Given the description of an element on the screen output the (x, y) to click on. 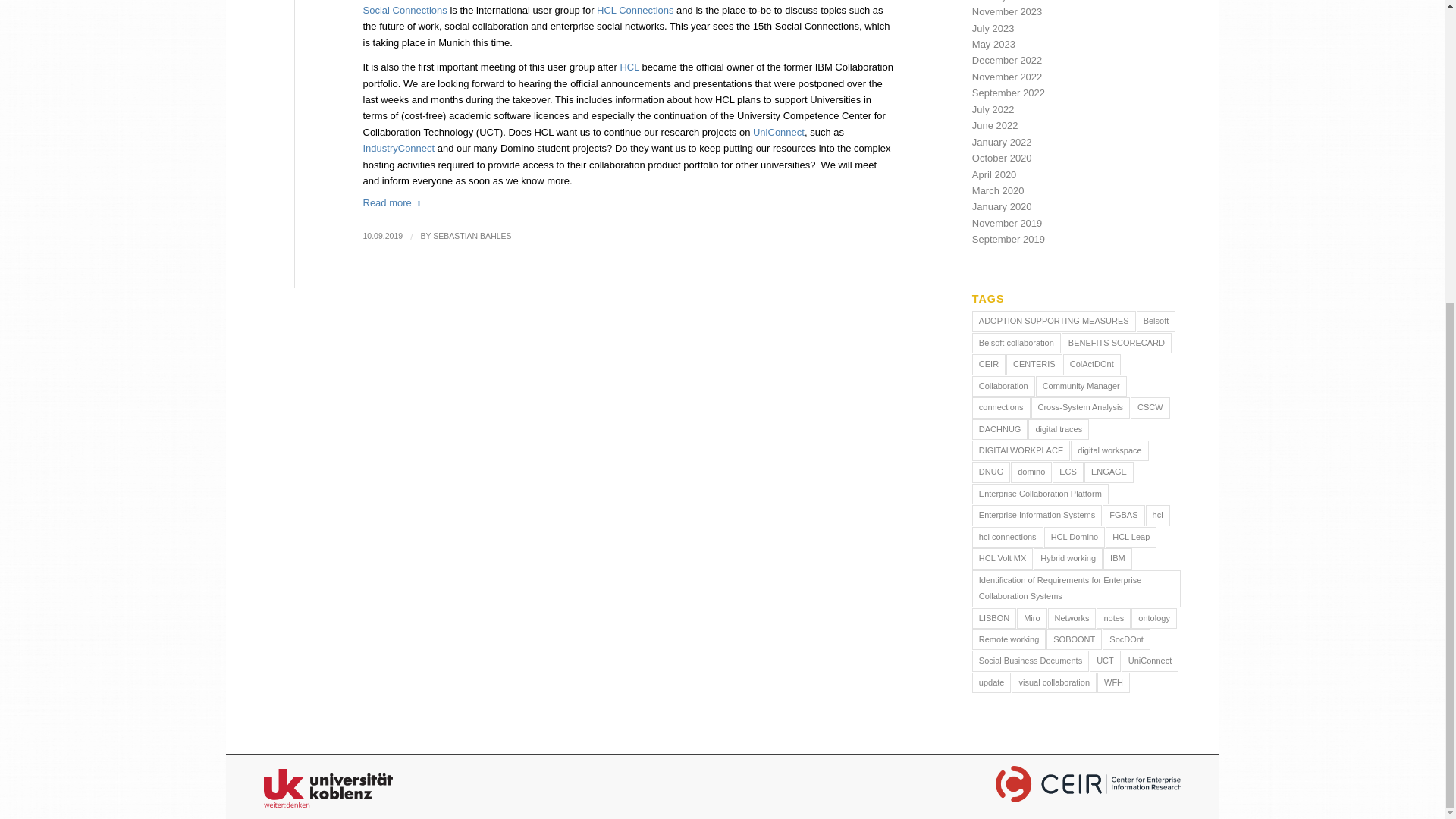
HCL (629, 66)
UniConnect (778, 132)
SEBASTIAN BAHLES (471, 235)
IndustryConnect (399, 147)
Posts by Sebastian Bahles (471, 235)
HCL Connections (634, 9)
Read more (394, 202)
Social Connections (405, 9)
